Given the description of an element on the screen output the (x, y) to click on. 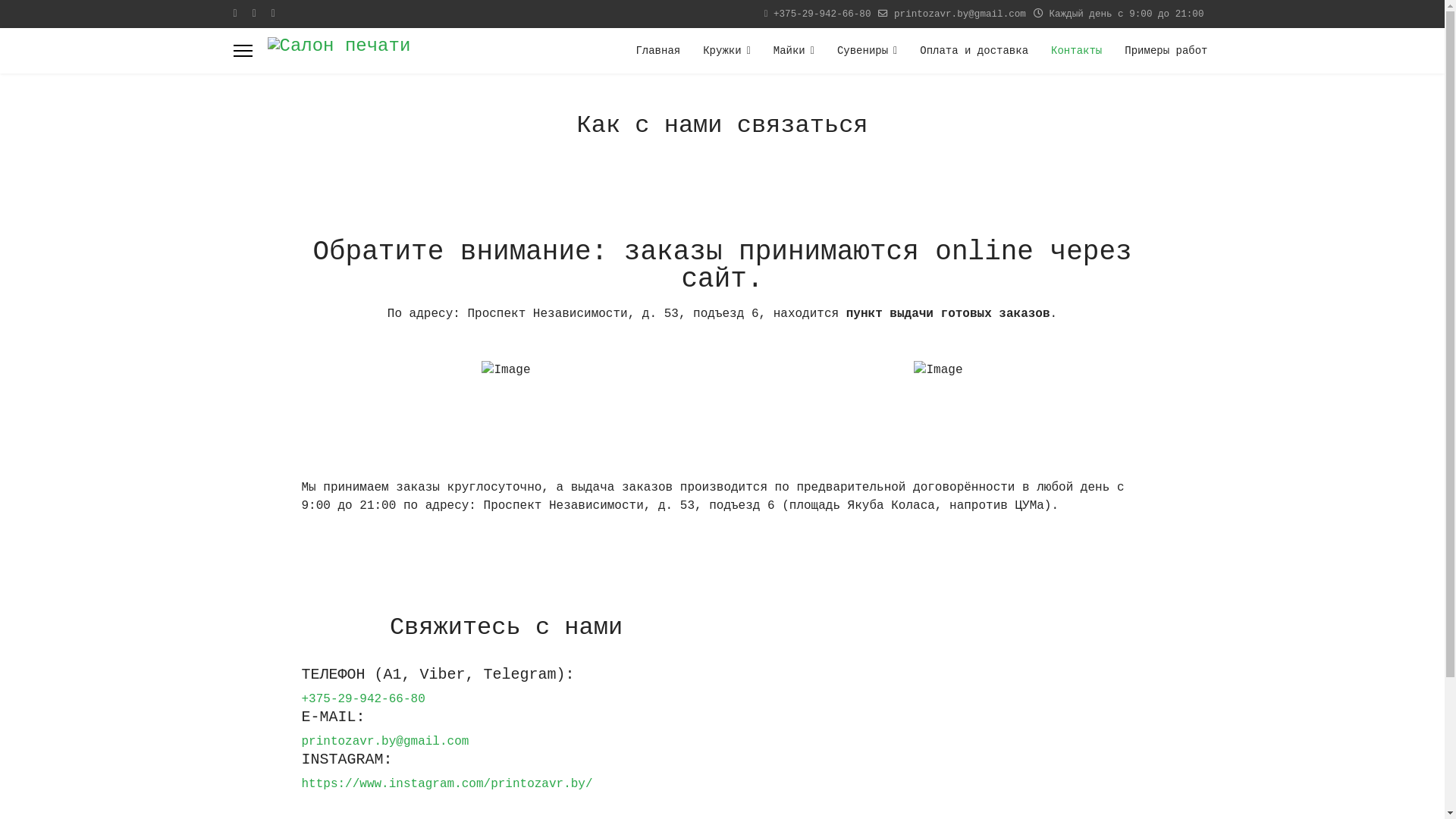
Menu Element type: hover (242, 50)
+375-29-942-66-80 Element type: text (363, 698)
https://www.instagram.com/printozavr.by/ Element type: text (447, 783)
printozavr.by@gmail.com Element type: text (385, 740)
printozavr.by@gmail.com Element type: text (960, 14)
+375-29-942-66-80 Element type: text (821, 14)
